Given the description of an element on the screen output the (x, y) to click on. 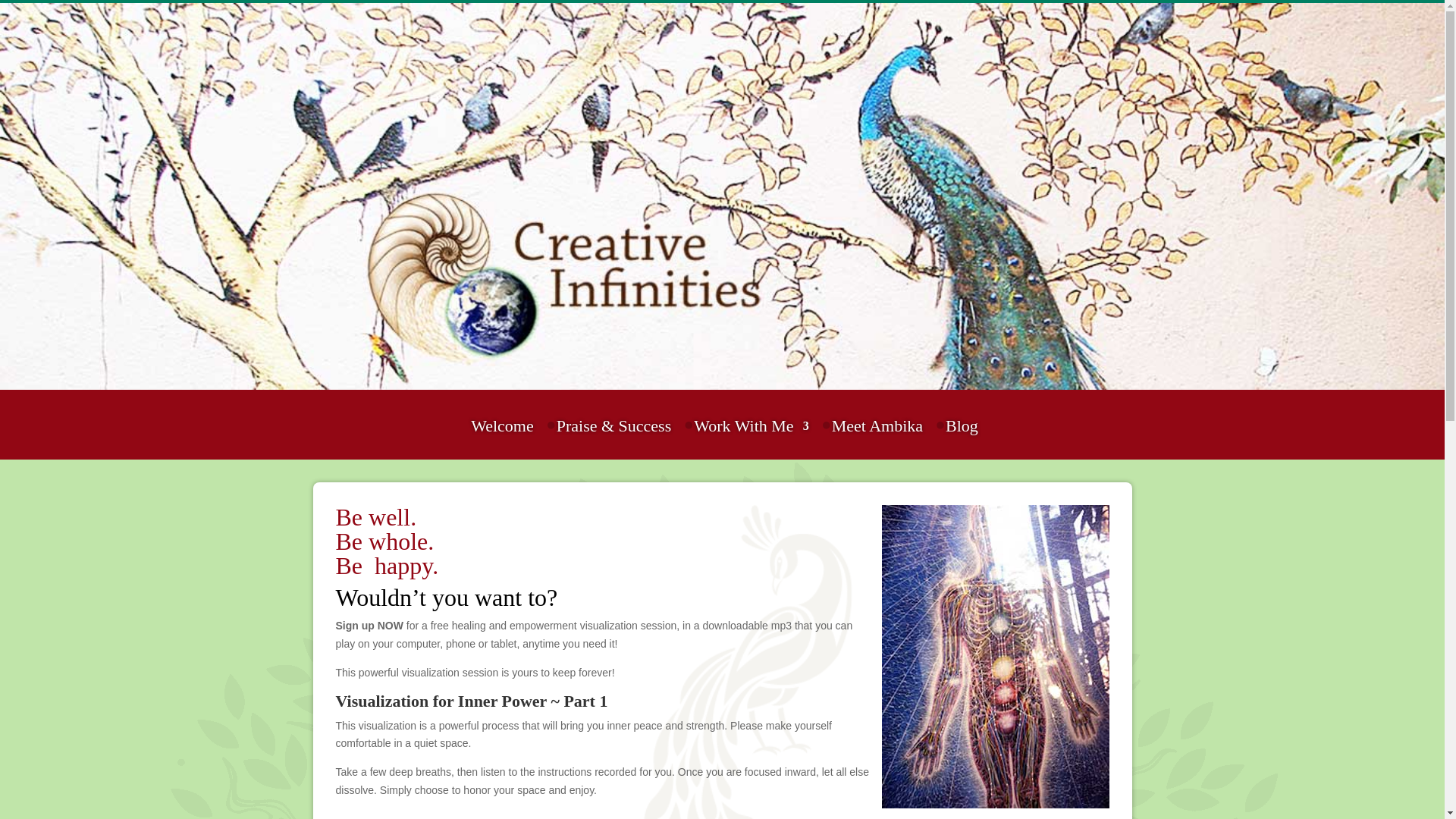
Work With Me (751, 436)
Meet Ambika (877, 436)
Welcome (502, 436)
